Given the description of an element on the screen output the (x, y) to click on. 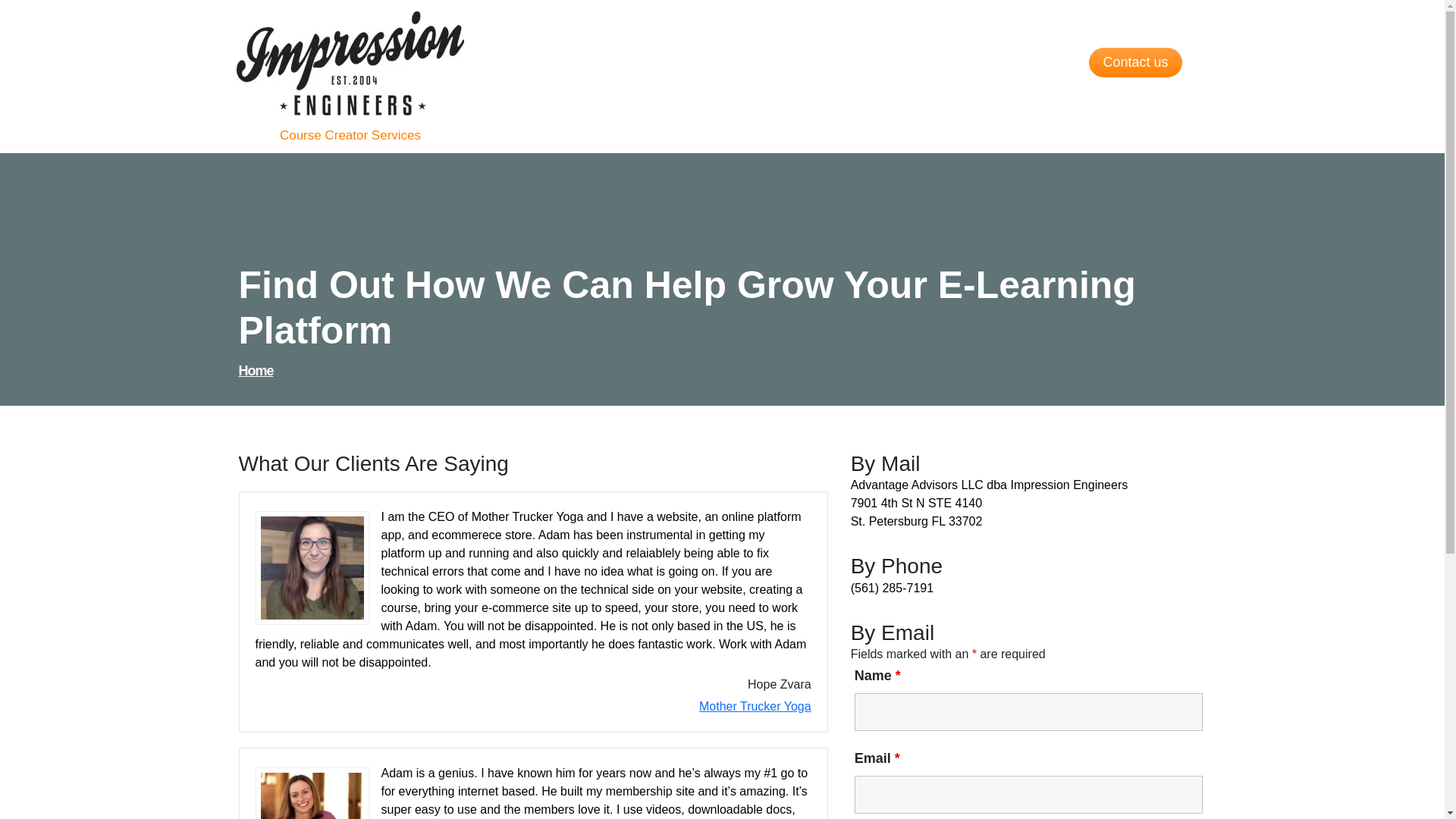
Contact us (1134, 61)
Mother Trucker Yoga (754, 706)
Home (255, 369)
